Given the description of an element on the screen output the (x, y) to click on. 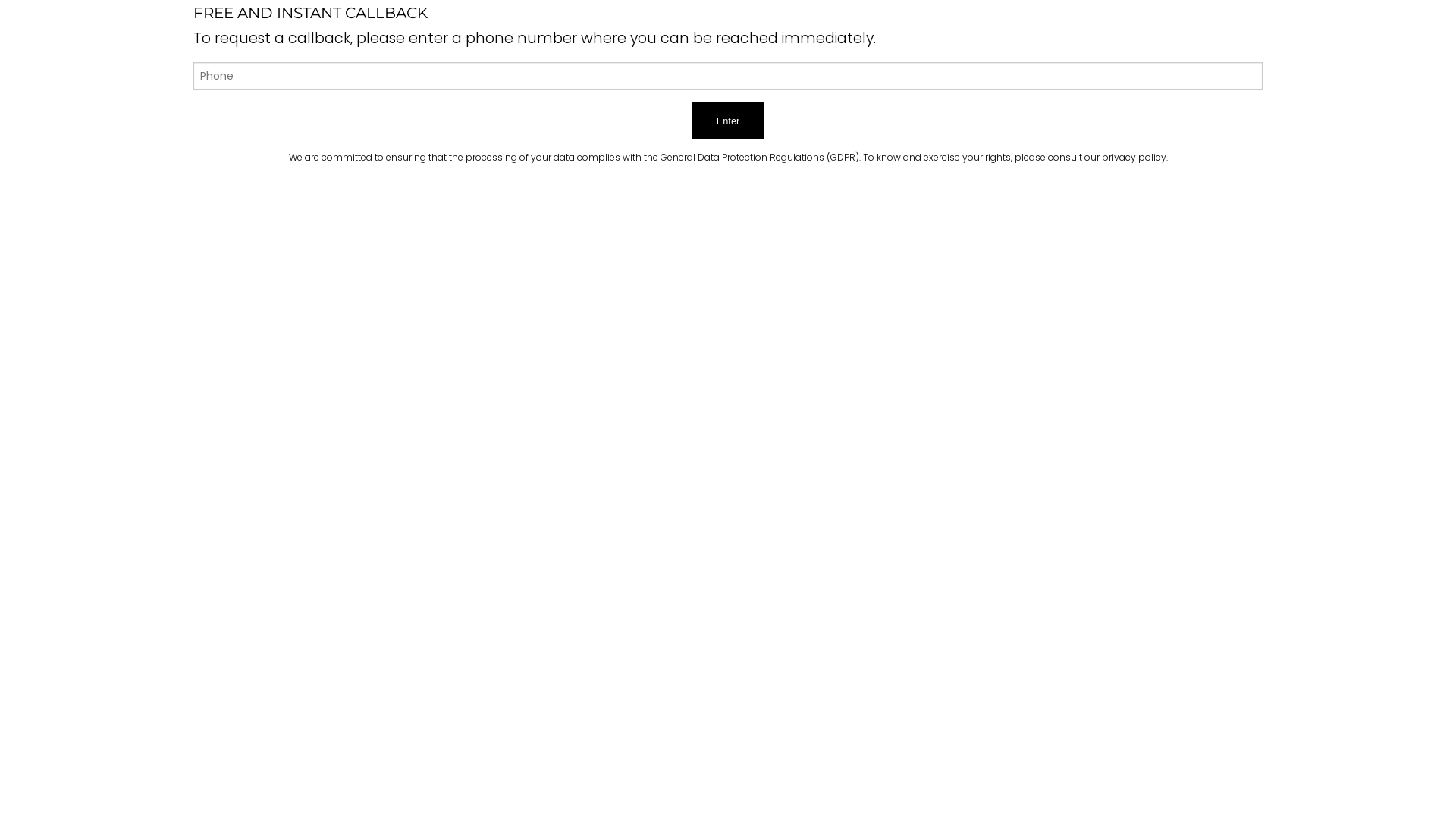
Enter Element type: text (728, 120)
